Given the description of an element on the screen output the (x, y) to click on. 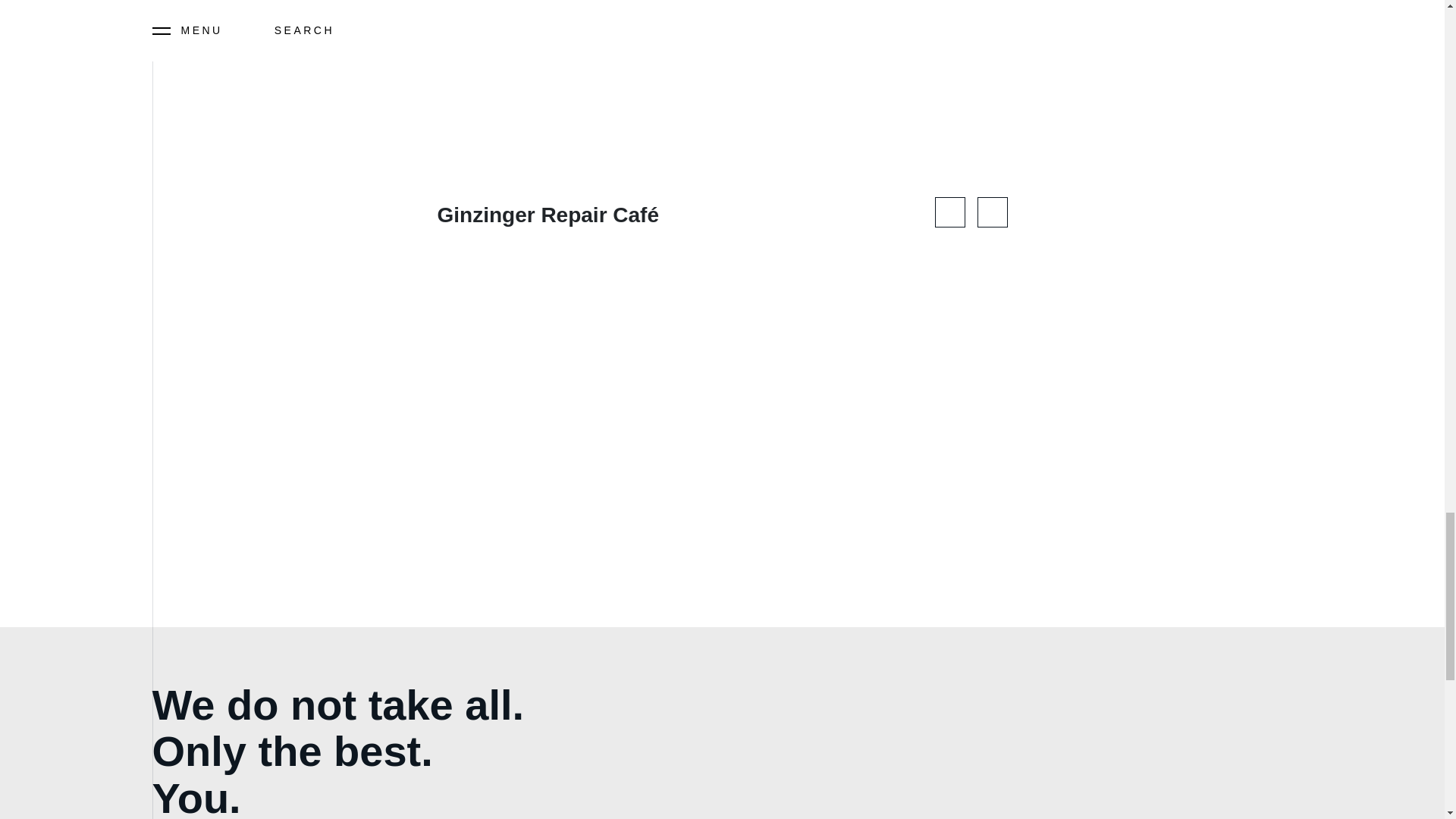
Weng im Innkreis (295, 7)
